Given the description of an element on the screen output the (x, y) to click on. 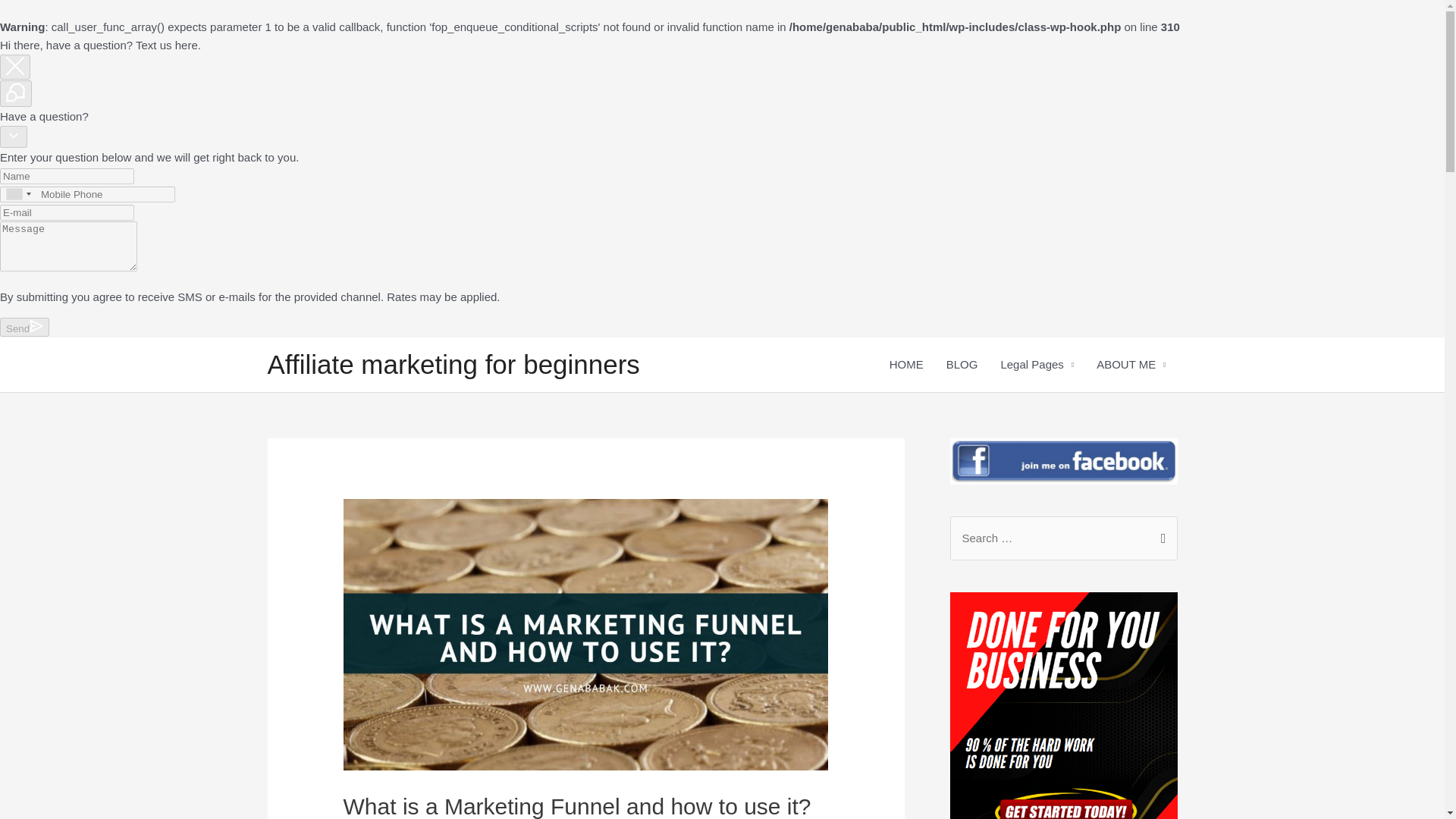
Affiliate marketing for beginners (452, 364)
Search (1159, 531)
Search (1159, 531)
HOME (905, 364)
Search (1159, 531)
Legal Pages (1036, 364)
BLOG (962, 364)
ABOUT ME (1130, 364)
